Given the description of an element on the screen output the (x, y) to click on. 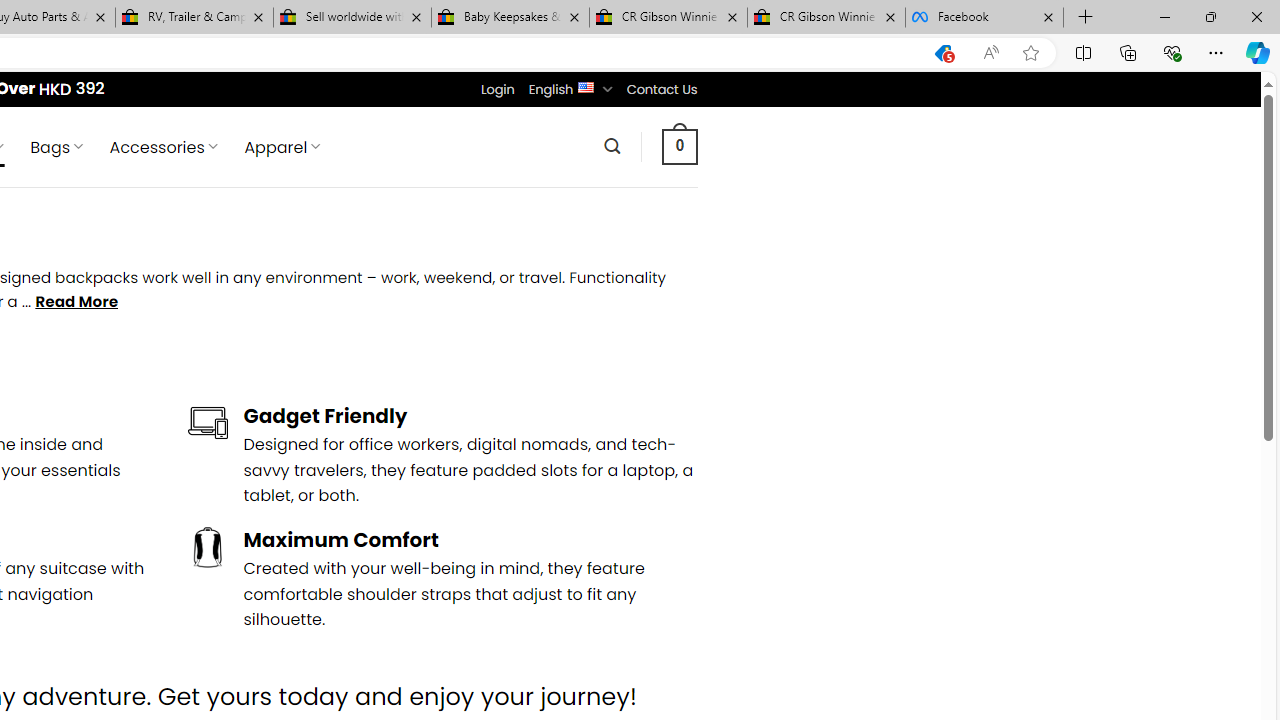
Facebook (984, 17)
This site has coupons! Shopping in Microsoft Edge, 5 (943, 53)
